Given the description of an element on the screen output the (x, y) to click on. 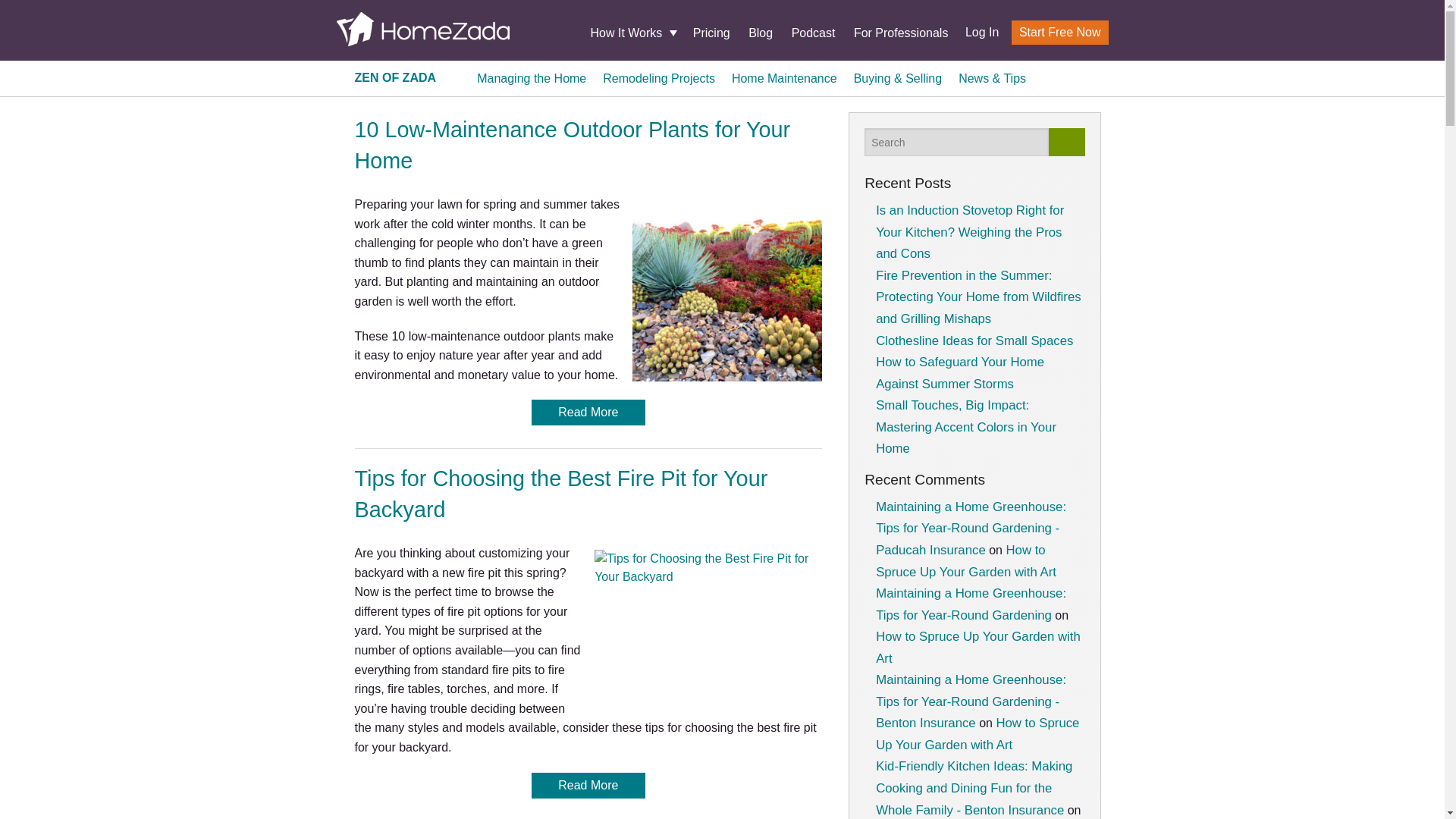
Tips for Choosing the Best Fire Pit for Your Backyard (561, 493)
Read More (588, 412)
ZEN OF ZADA (395, 77)
Managing the Home (531, 77)
Remodeling Projects (658, 77)
Podcast (813, 32)
Pricing (711, 32)
For Professionals (901, 32)
Home Maintenance (784, 77)
How It Works (632, 33)
